Given the description of an element on the screen output the (x, y) to click on. 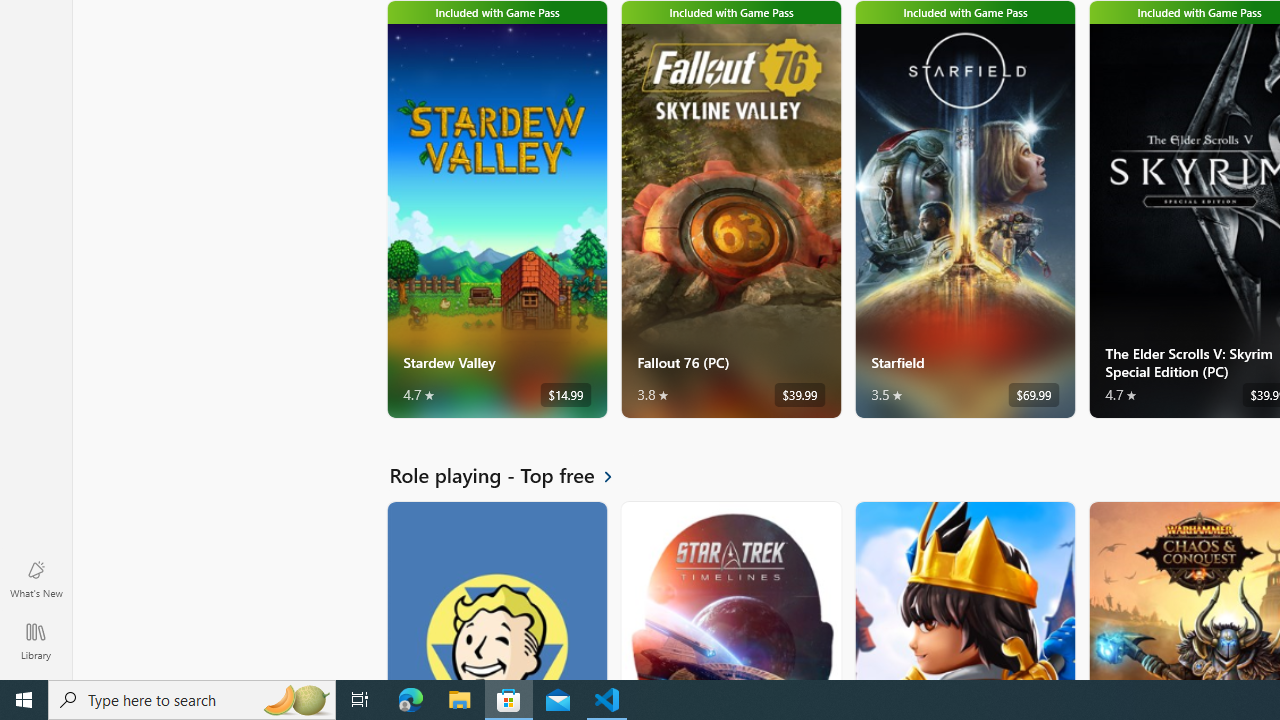
What's New (35, 578)
Library (35, 640)
See all  Role playing - Top free (512, 475)
